Given the description of an element on the screen output the (x, y) to click on. 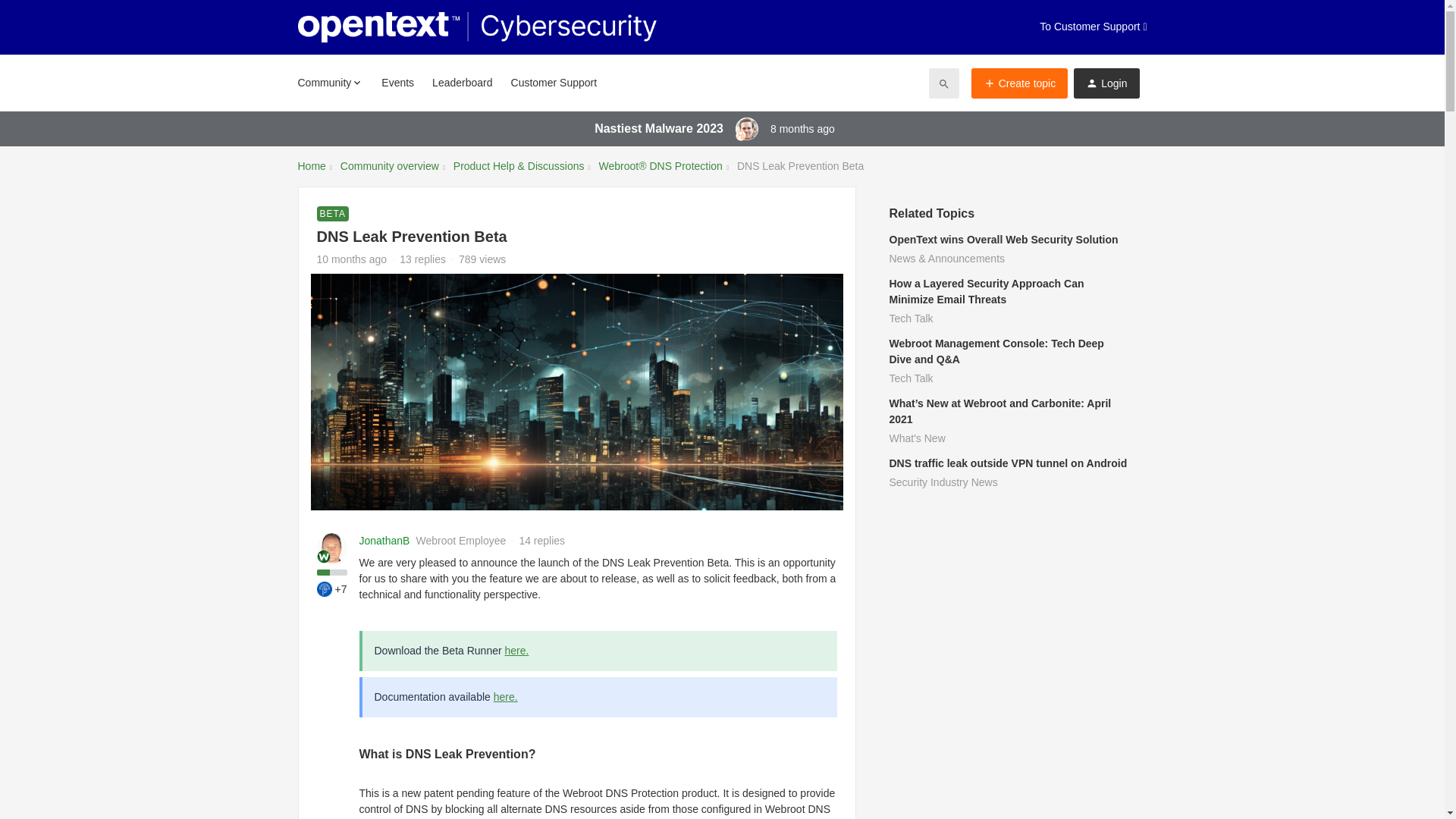
To Customer Support (1093, 26)
Community (329, 82)
